Given the description of an element on the screen output the (x, y) to click on. 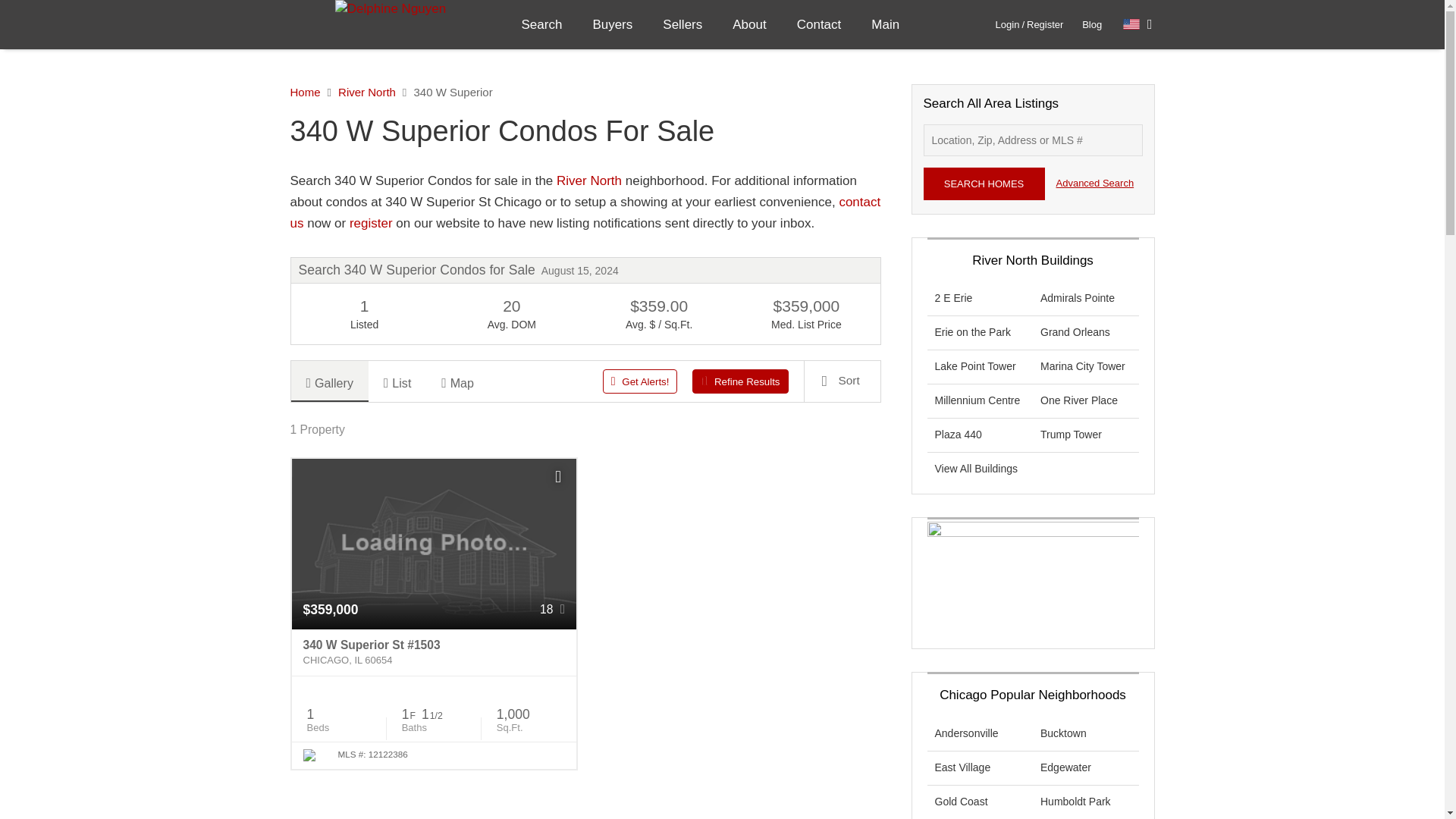
Sellers (682, 24)
About (748, 24)
Buyers (611, 24)
Main (885, 24)
Contact (819, 24)
Search (542, 24)
Register (1044, 24)
Select Language (1137, 24)
